Given the description of an element on the screen output the (x, y) to click on. 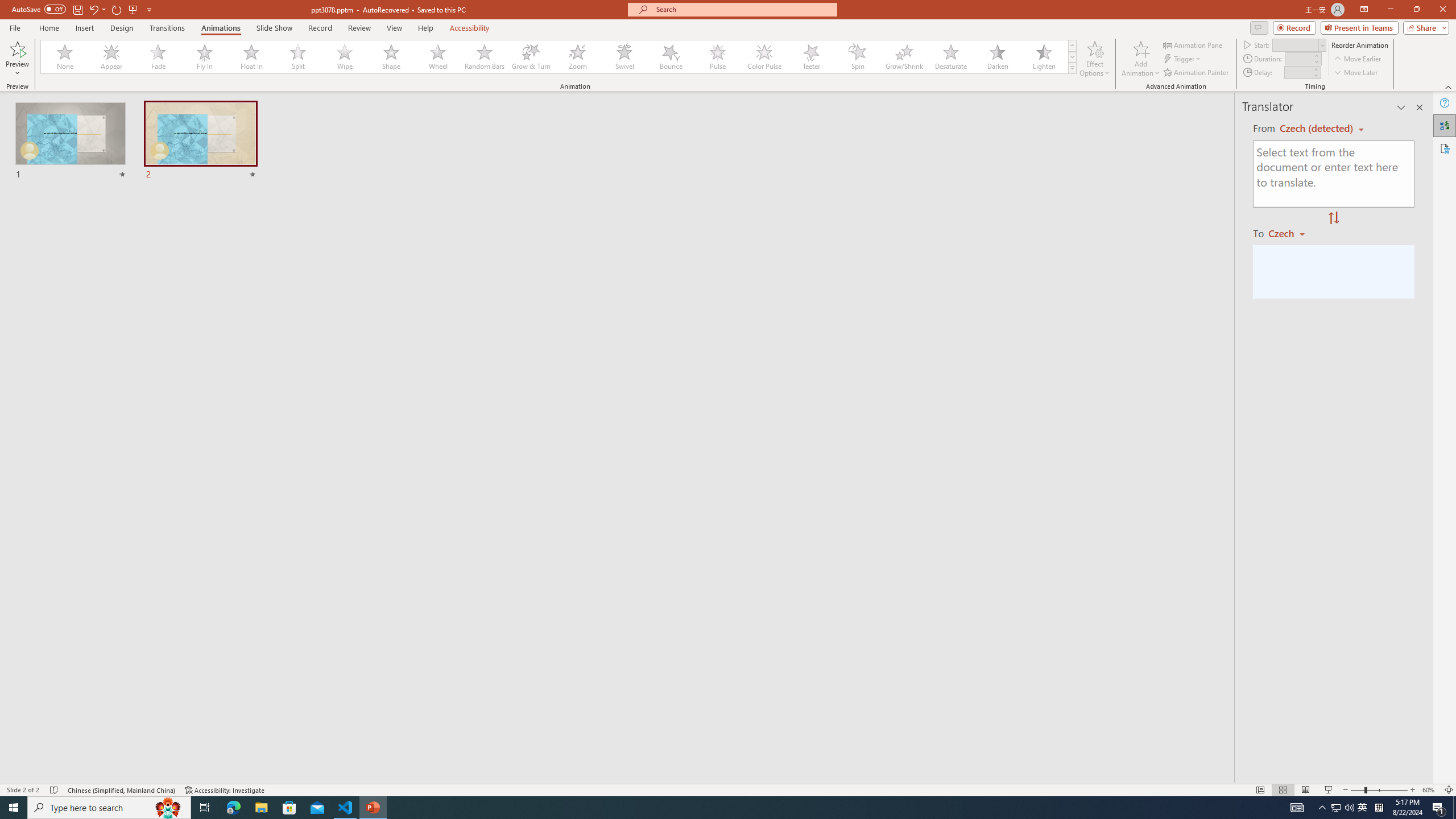
Spin (857, 56)
Animation Painter (1196, 72)
Color Pulse (764, 56)
Grow/Shrink (903, 56)
Split (298, 56)
Desaturate (950, 56)
Random Bars (484, 56)
